Given the description of an element on the screen output the (x, y) to click on. 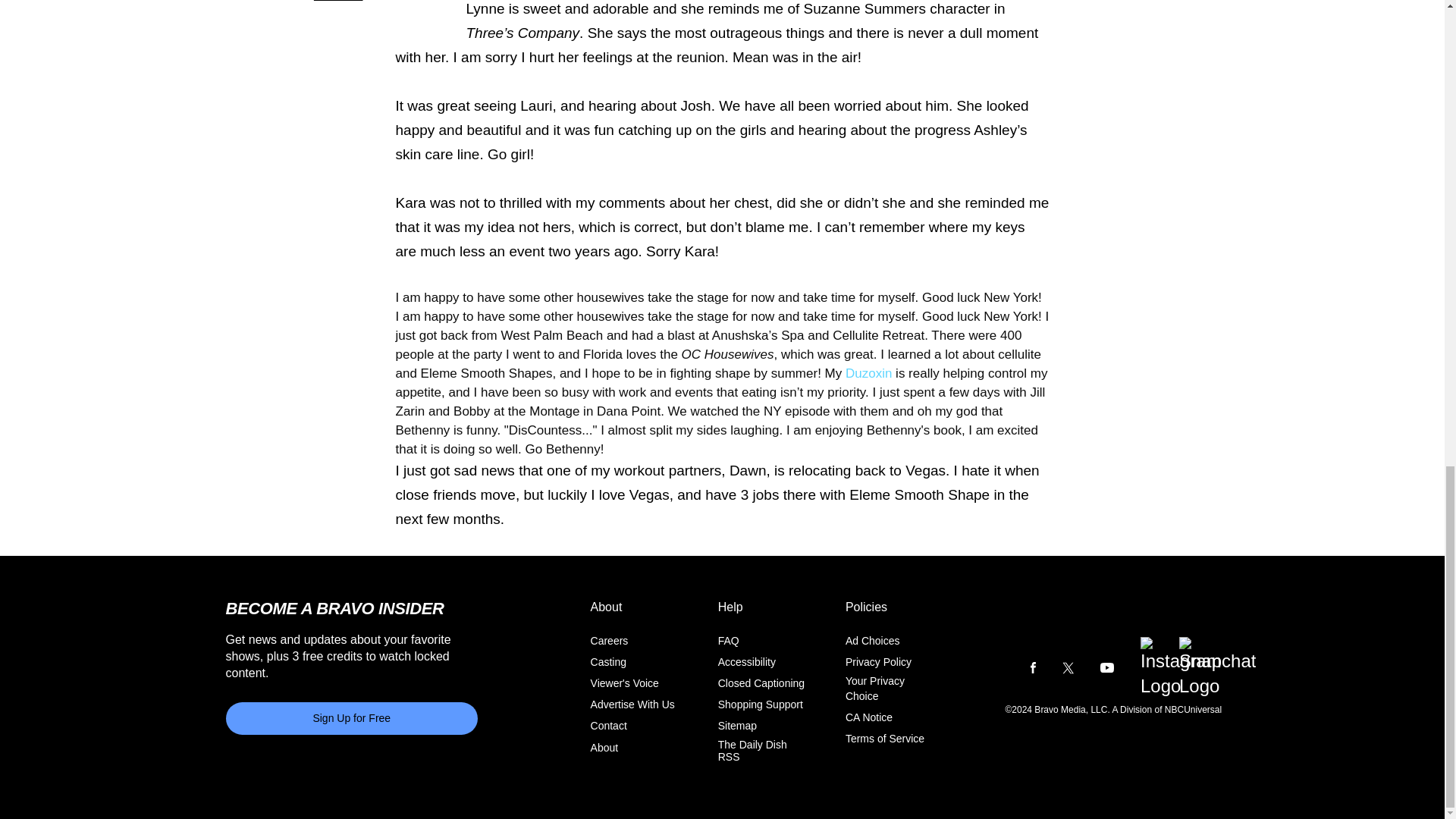
FAQ (728, 640)
Advertise With Us (633, 704)
About (604, 746)
Contact (609, 725)
Sign Up for Free (352, 717)
Viewer's Voice (625, 683)
Advertise With Us (633, 704)
Casting (608, 662)
Duzoxin (870, 373)
Accessibility (746, 662)
Careers (609, 640)
